Given the description of an element on the screen output the (x, y) to click on. 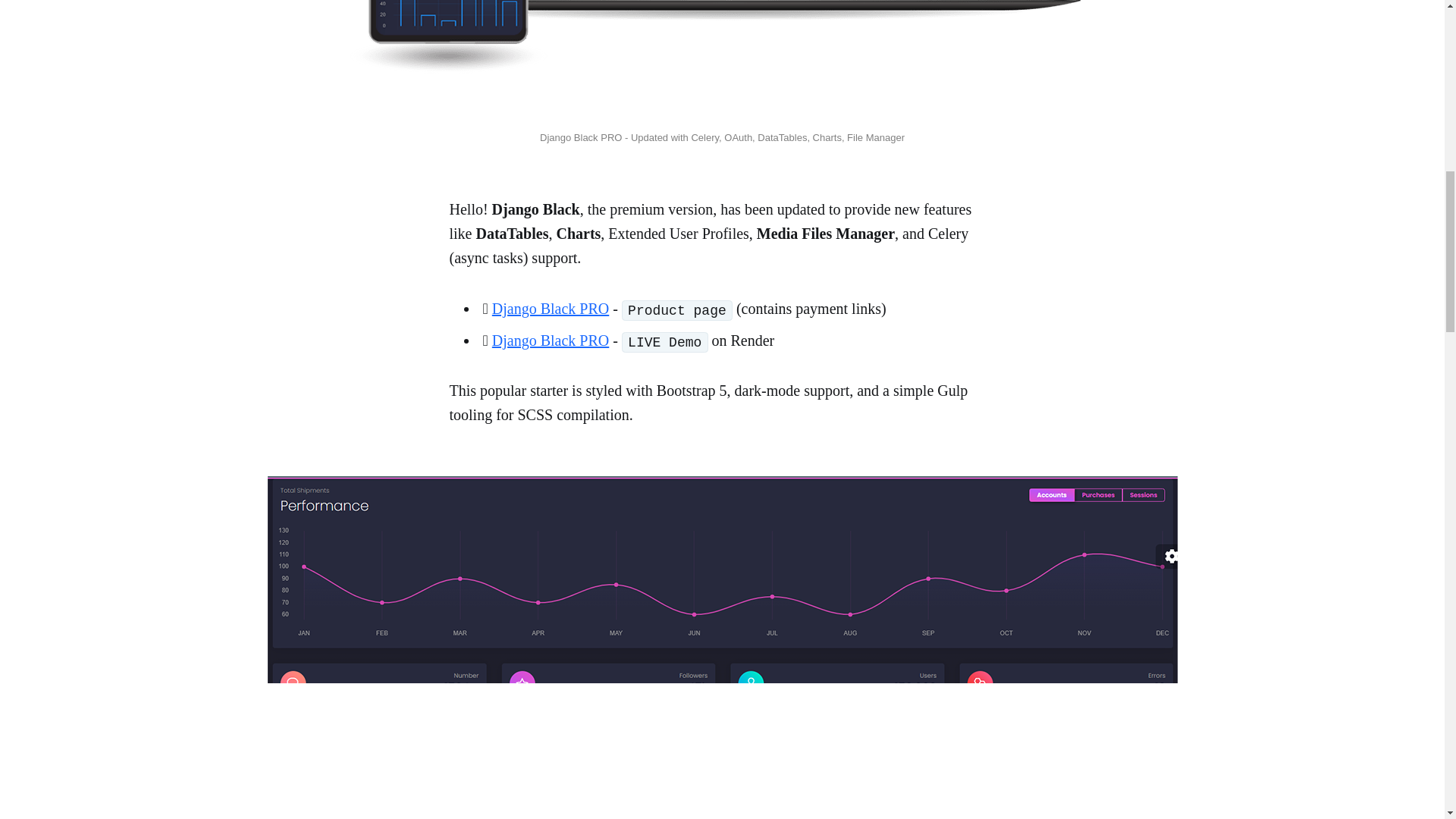
Django Black PRO (550, 340)
Django Black PRO (550, 308)
